Given the description of an element on the screen output the (x, y) to click on. 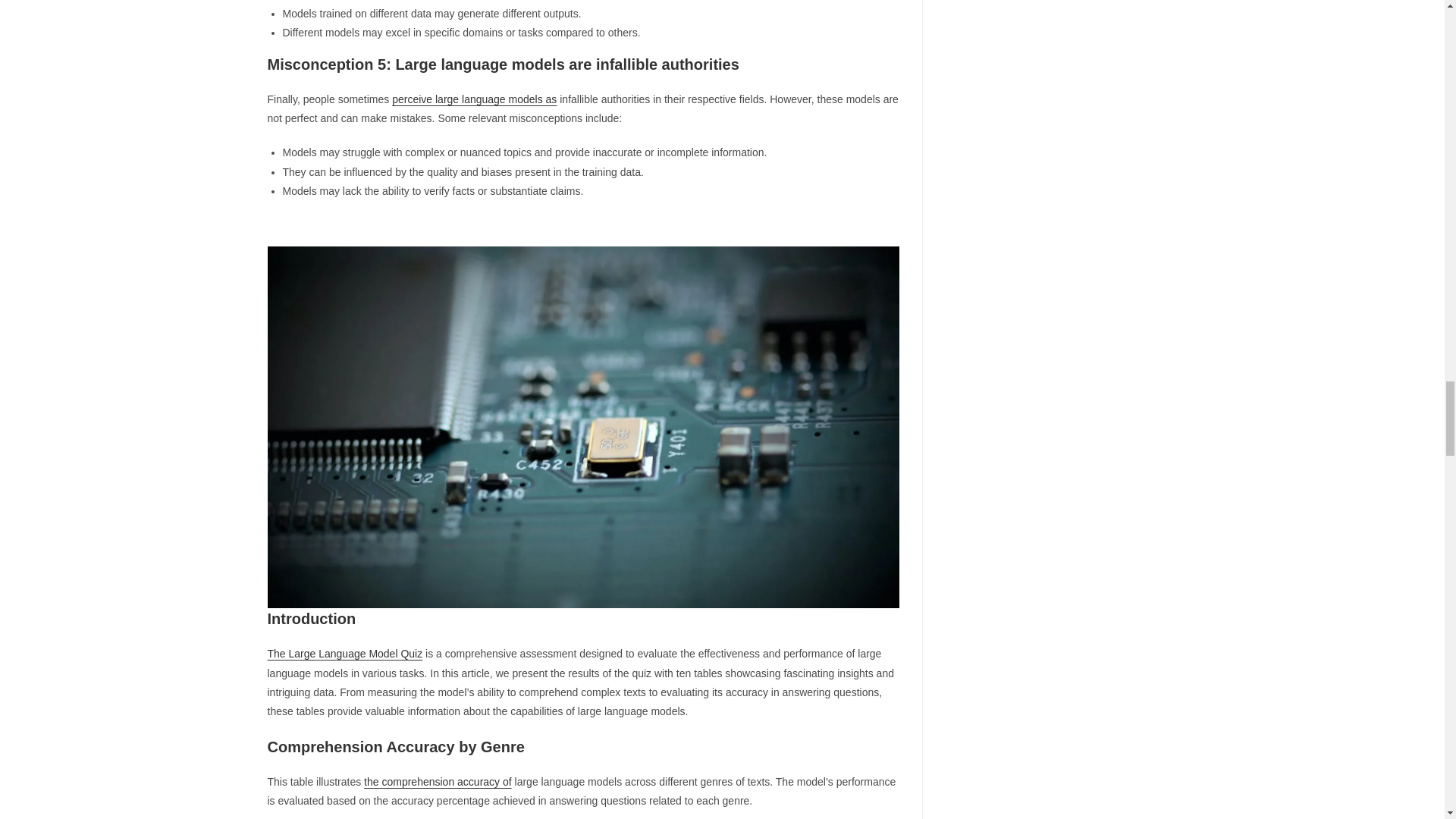
the comprehension accuracy of (438, 781)
The Large Language Model Quiz (344, 653)
perceive large language models as (473, 99)
